Given the description of an element on the screen output the (x, y) to click on. 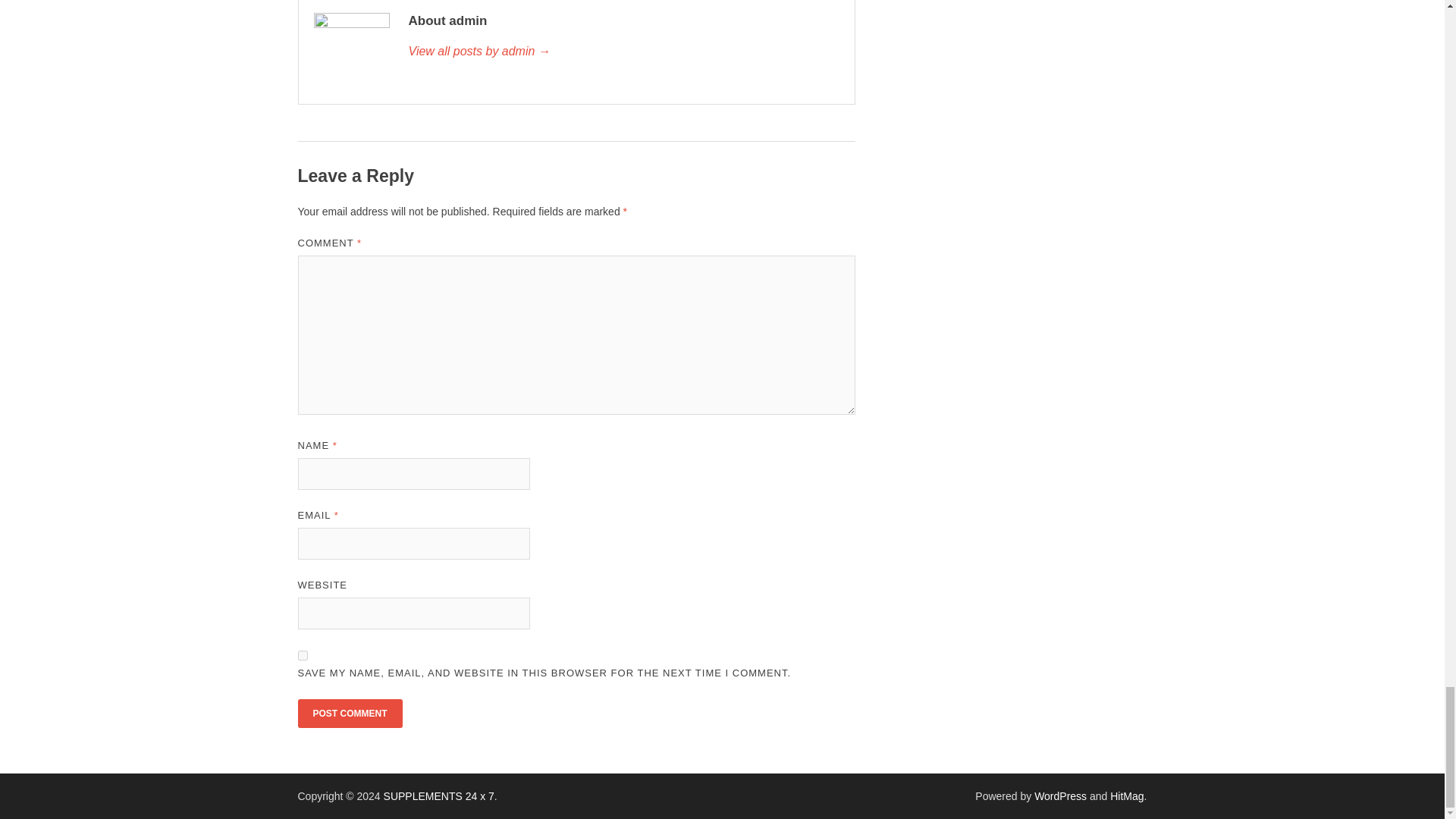
WordPress (1059, 796)
Post Comment (349, 713)
admin (622, 51)
SUPPLEMENTS 24 x 7 (439, 796)
WordPress (1059, 796)
HitMag (1125, 796)
SUPPLEMENTS 24 x 7 (439, 796)
Post Comment (349, 713)
HitMag WordPress Theme (1125, 796)
yes (302, 655)
